Given the description of an element on the screen output the (x, y) to click on. 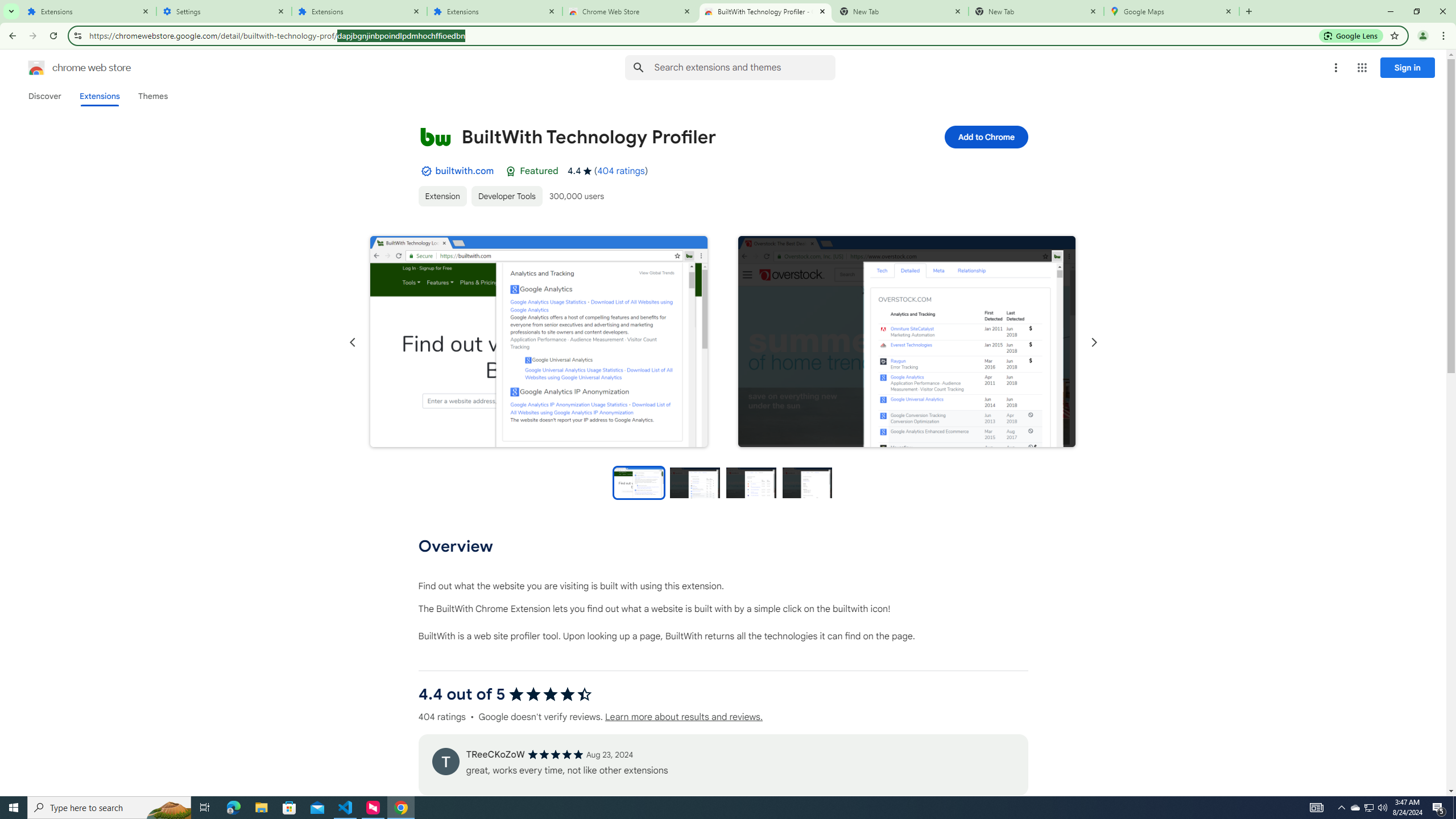
Featured Badge (510, 170)
Item media 1 screenshot (538, 341)
Minimize (1390, 11)
New Tab (1248, 11)
Item media 1 screenshot (538, 342)
Previous slide (352, 342)
Chrome Web Store logo (36, 67)
Developer Tools (506, 195)
Google apps (1362, 67)
Themes (152, 95)
Extensions (88, 11)
Google Maps (1171, 11)
View site information (77, 35)
Forward (32, 35)
5 out of 5 stars (555, 753)
